Given the description of an element on the screen output the (x, y) to click on. 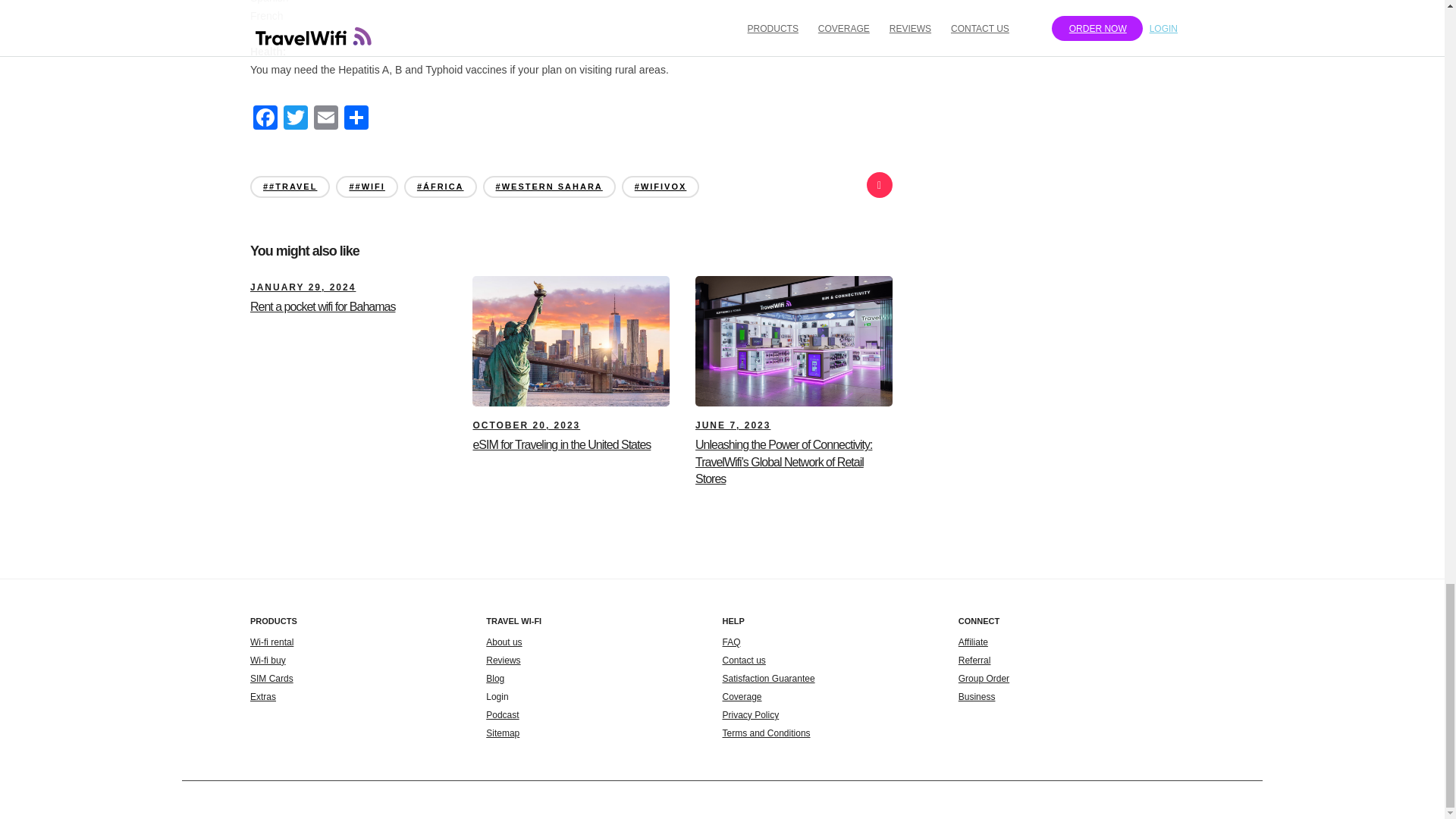
Rent a pocket wifi for Bahamas (302, 286)
eSIM for Traveling in the United States (560, 444)
Facebook (265, 119)
Share (355, 119)
JUNE 7, 2023 (732, 425)
Rent a pocket wifi for Bahamas (322, 306)
eSIM for Traveling in the United States (525, 425)
Twitter (296, 119)
JANUARY 29, 2024 (302, 286)
Twitter (296, 119)
OCTOBER 20, 2023 (525, 425)
Email (325, 119)
eSIM for Traveling in the United States (560, 444)
Facebook (265, 119)
Email (325, 119)
